Given the description of an element on the screen output the (x, y) to click on. 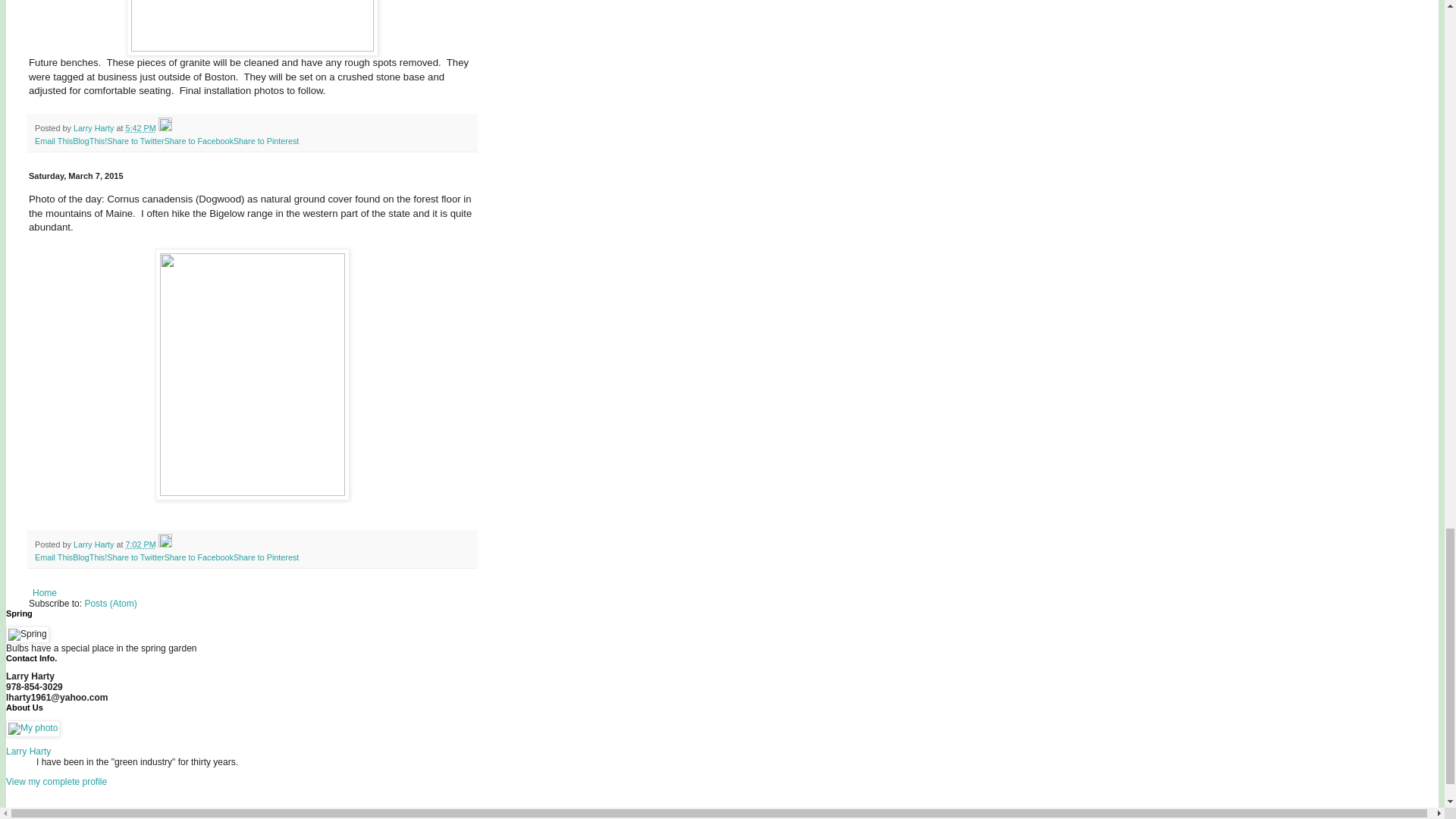
5:42 PM (140, 127)
Larry Harty (95, 127)
